Given the description of an element on the screen output the (x, y) to click on. 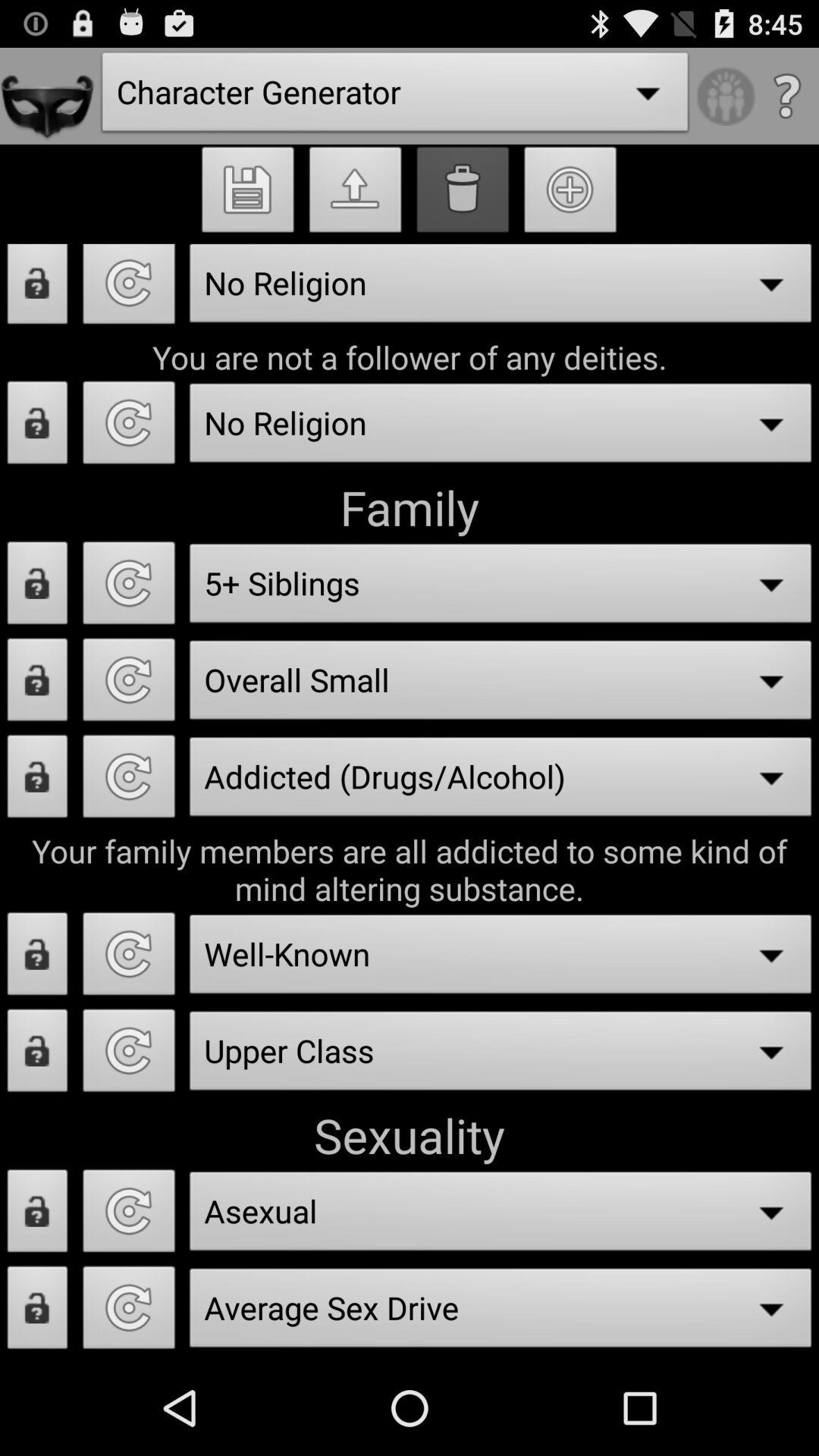
refresh (129, 1215)
